Given the description of an element on the screen output the (x, y) to click on. 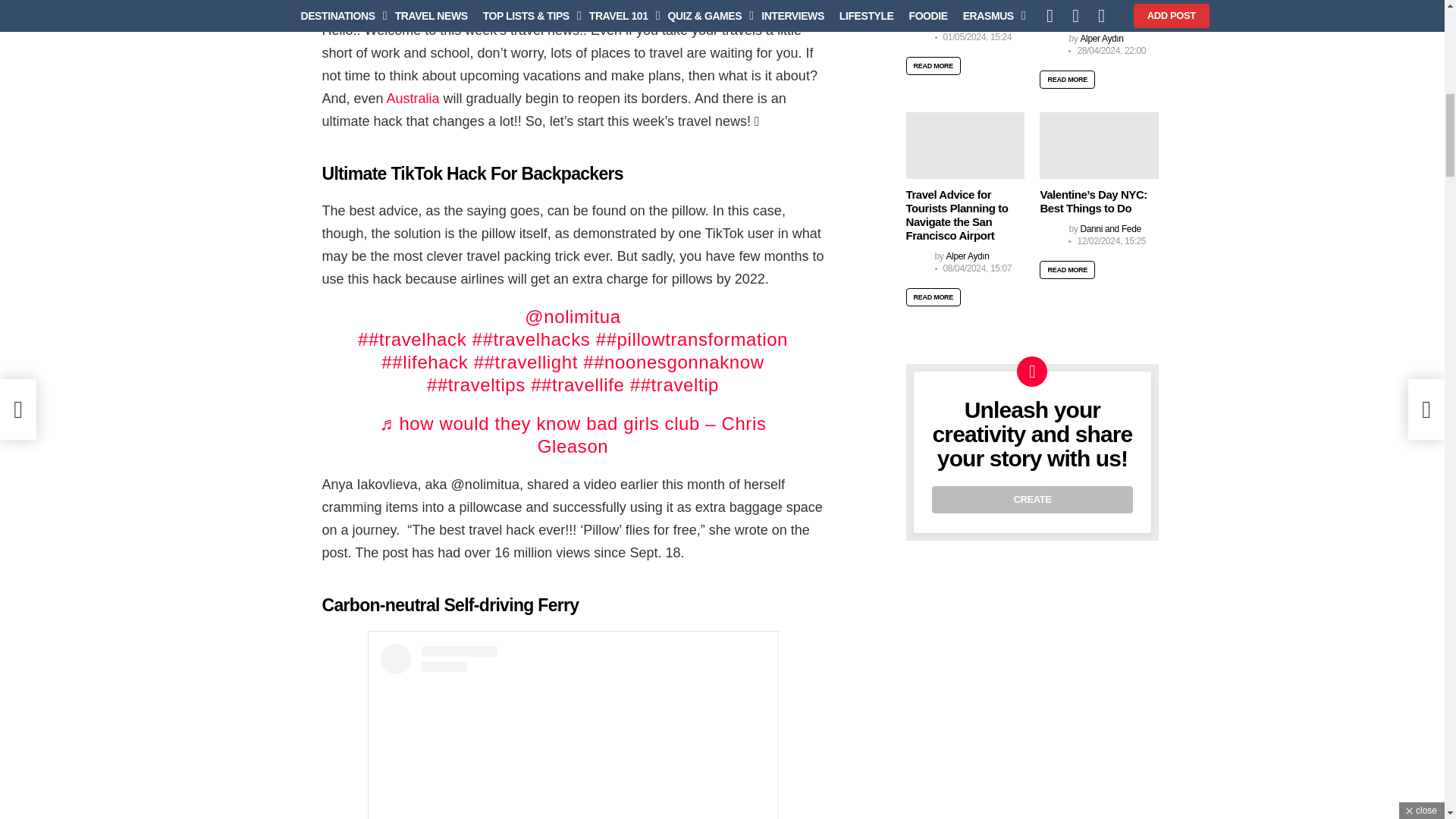
traveltips (475, 384)
travellife (577, 384)
noonesgonnaknow (672, 362)
travelhack (411, 339)
traveltip (674, 384)
pillowtransformation (691, 339)
lifehack (424, 362)
travellight (526, 362)
travelhacks (531, 339)
